Given the description of an element on the screen output the (x, y) to click on. 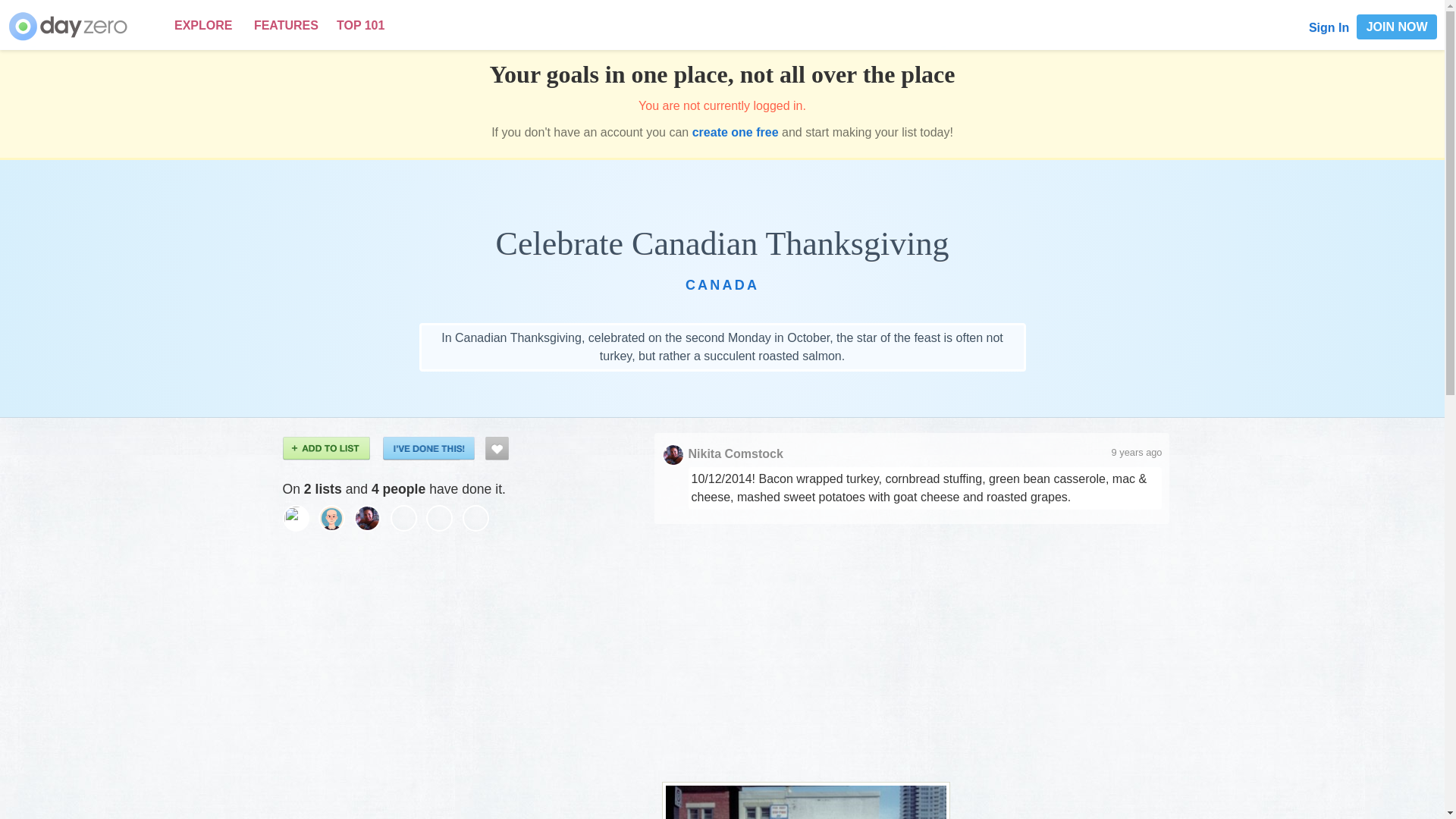
CANADA (721, 284)
FEATURES (285, 24)
 JOIN NOW  (1396, 26)
Sign In (1328, 27)
Advertisement (911, 644)
9 years ago (1136, 451)
Nikita Comstock (735, 453)
TOP 101 (360, 24)
Gayle Burkholder (299, 517)
Adam Glinglin (335, 517)
create one free (735, 132)
Nikita Comstock (371, 517)
